Given the description of an element on the screen output the (x, y) to click on. 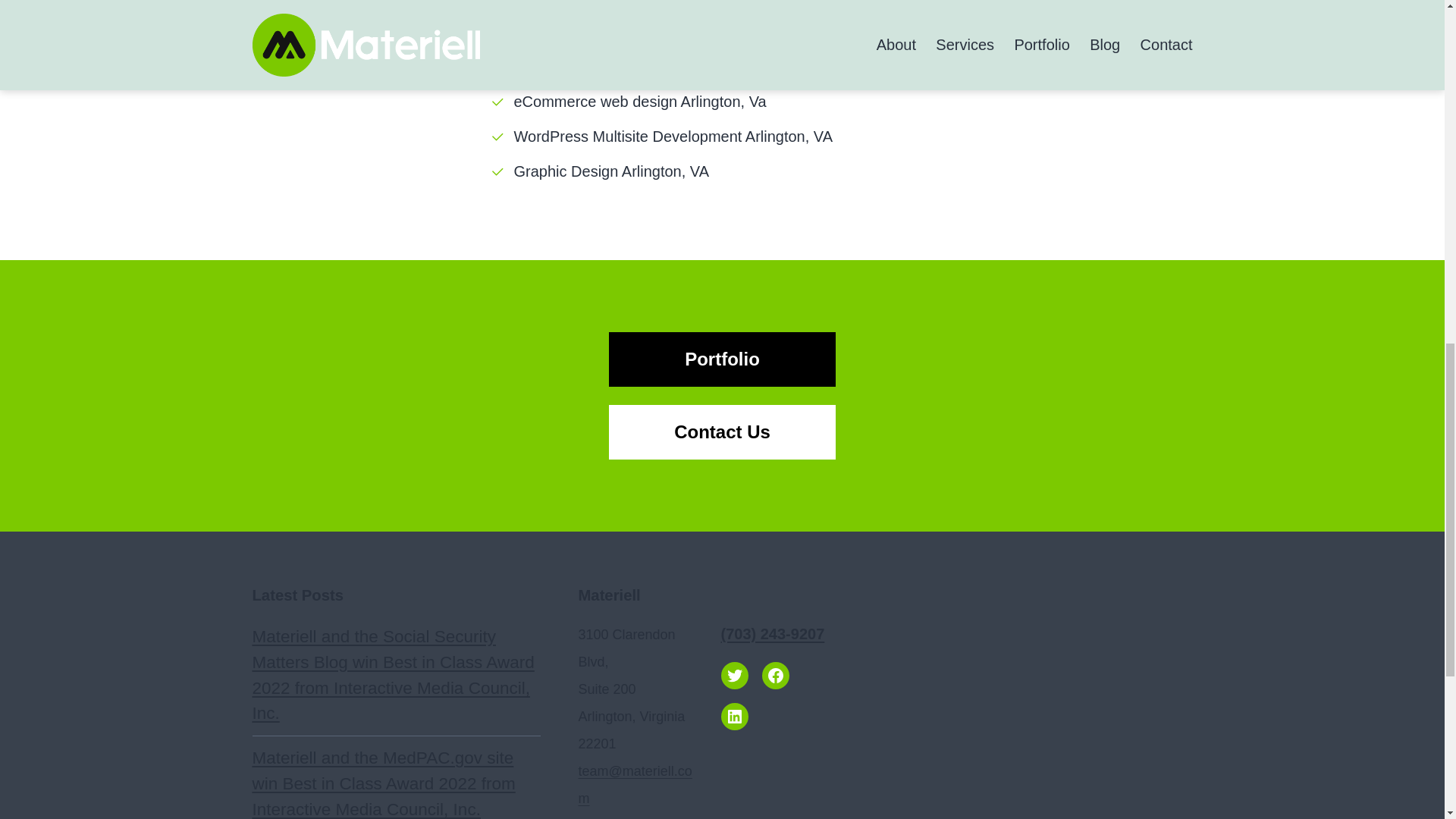
LinkedIn (734, 716)
Contact Us (721, 431)
Facebook (775, 675)
Portfolio (721, 359)
Twitter (734, 675)
